Given the description of an element on the screen output the (x, y) to click on. 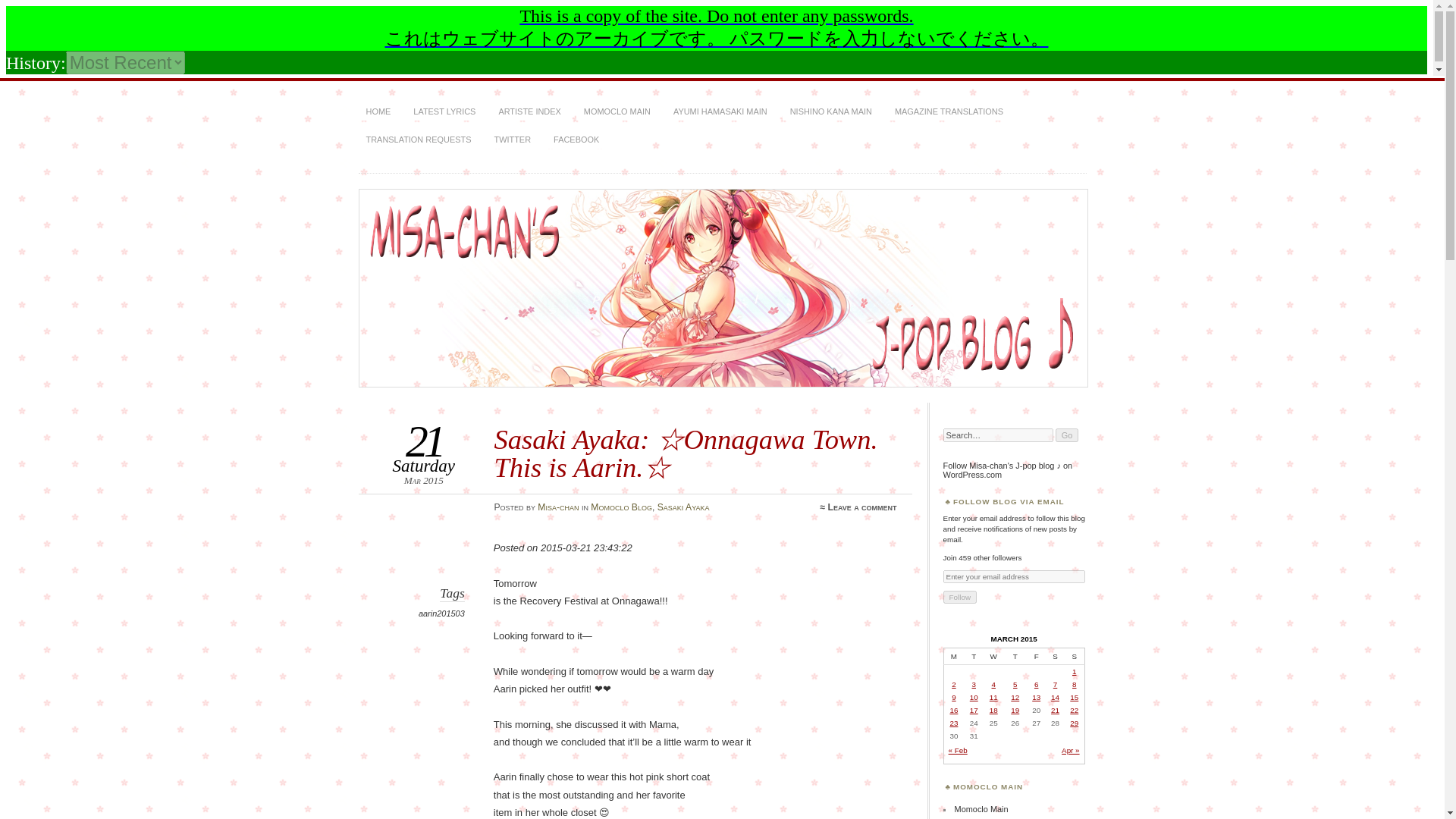
TWITTER (512, 139)
AYUMI HAMASAKI MAIN (719, 112)
NISHINO KANA MAIN (831, 112)
MOMOCLO MAIN (617, 112)
Sasaki Ayaka (684, 507)
Follow (959, 596)
FACEBOOK (576, 139)
ARTISTE INDEX (528, 112)
Momoclo Blog (621, 507)
Go (1066, 435)
